Given the description of an element on the screen output the (x, y) to click on. 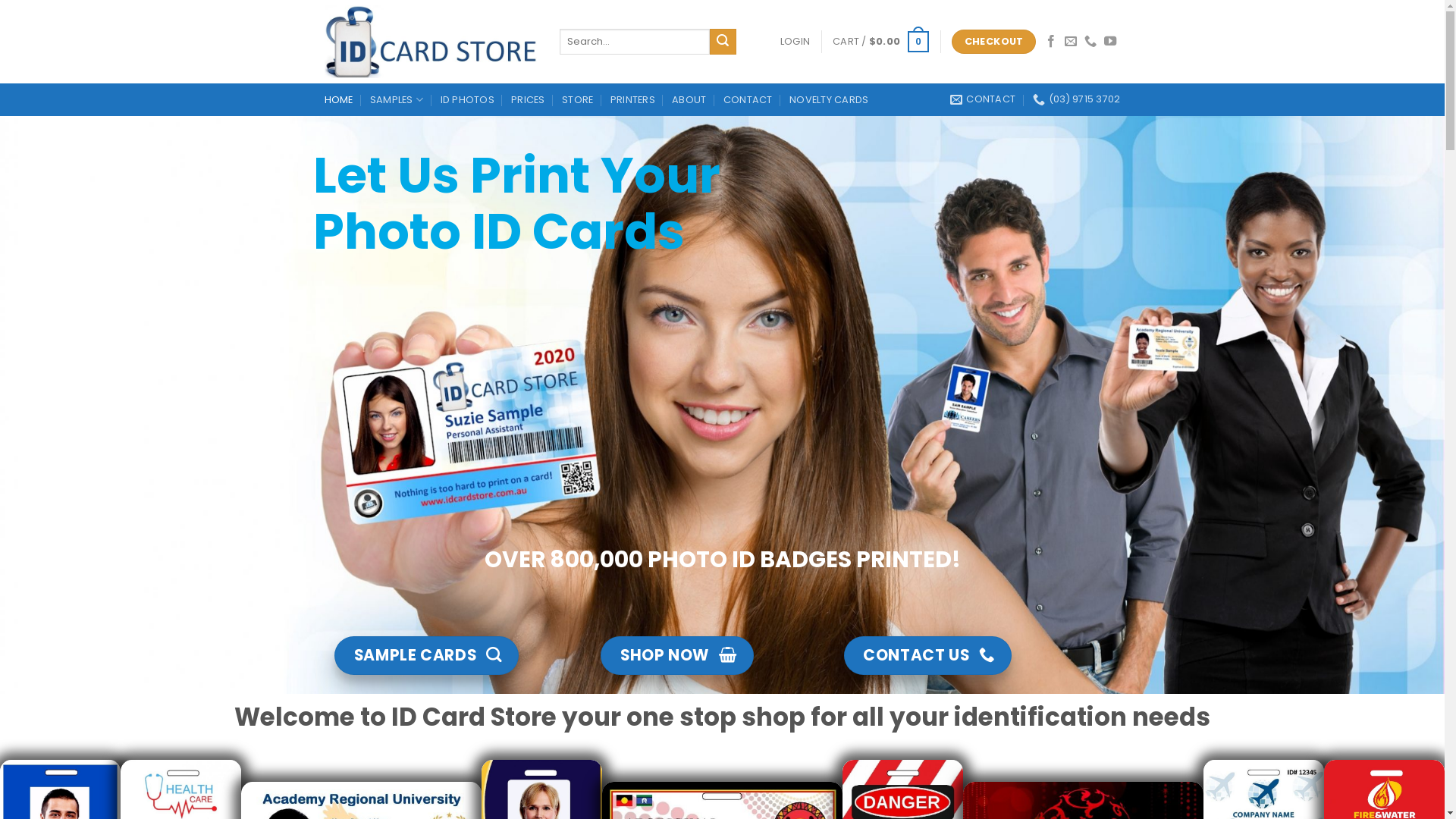
ID Card Store - "Nothing is too hard to print on a card!" Element type: hover (430, 41)
(03) 9715 3702 Element type: text (1076, 99)
STORE Element type: text (577, 99)
SAMPLES Element type: text (396, 99)
NOVELTY CARDS Element type: text (828, 99)
SHOP NOW Element type: text (676, 655)
CONTACT Element type: text (747, 99)
LOGIN Element type: text (794, 41)
Search Element type: text (722, 41)
ABOUT Element type: text (688, 99)
SAMPLE CARDS Element type: text (426, 655)
HOME Element type: text (338, 99)
CART / $0.00
0 Element type: text (880, 41)
CONTACT US Element type: text (927, 655)
CHECKOUT Element type: text (993, 41)
CONTACT Element type: text (982, 99)
PRINTERS Element type: text (632, 99)
PRICES Element type: text (528, 99)
ID PHOTOS Element type: text (467, 99)
